Given the description of an element on the screen output the (x, y) to click on. 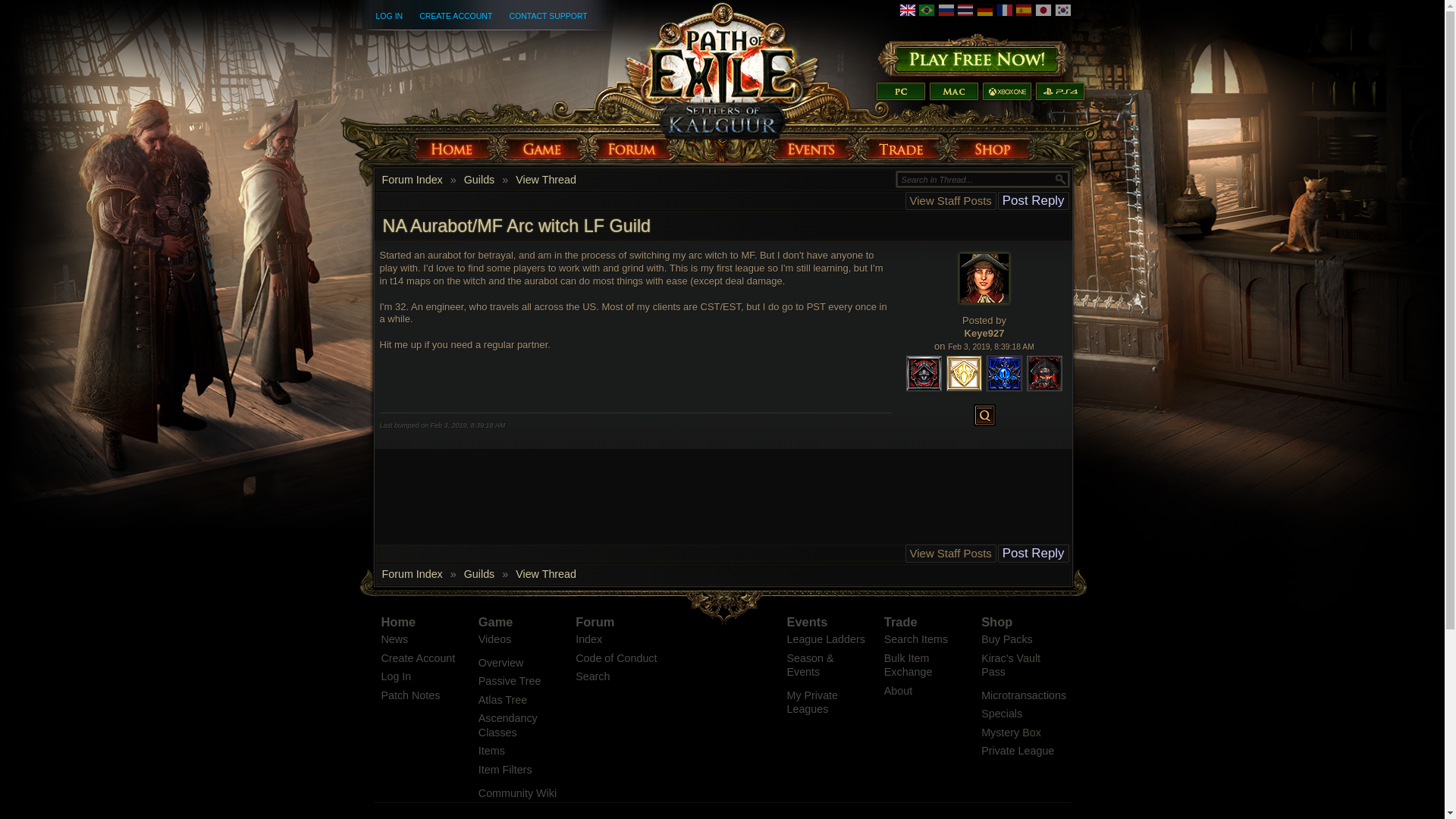
Pitfighter Supporter (923, 373)
Sentinel Overlord Supporter (1004, 373)
Ancestral Lithomancer Supporter (1044, 373)
CONTACT SUPPORT (547, 15)
Sunspire Supporter (964, 373)
Quote this Post (984, 414)
CREATE ACCOUNT (455, 15)
LOG IN (389, 15)
